Given the description of an element on the screen output the (x, y) to click on. 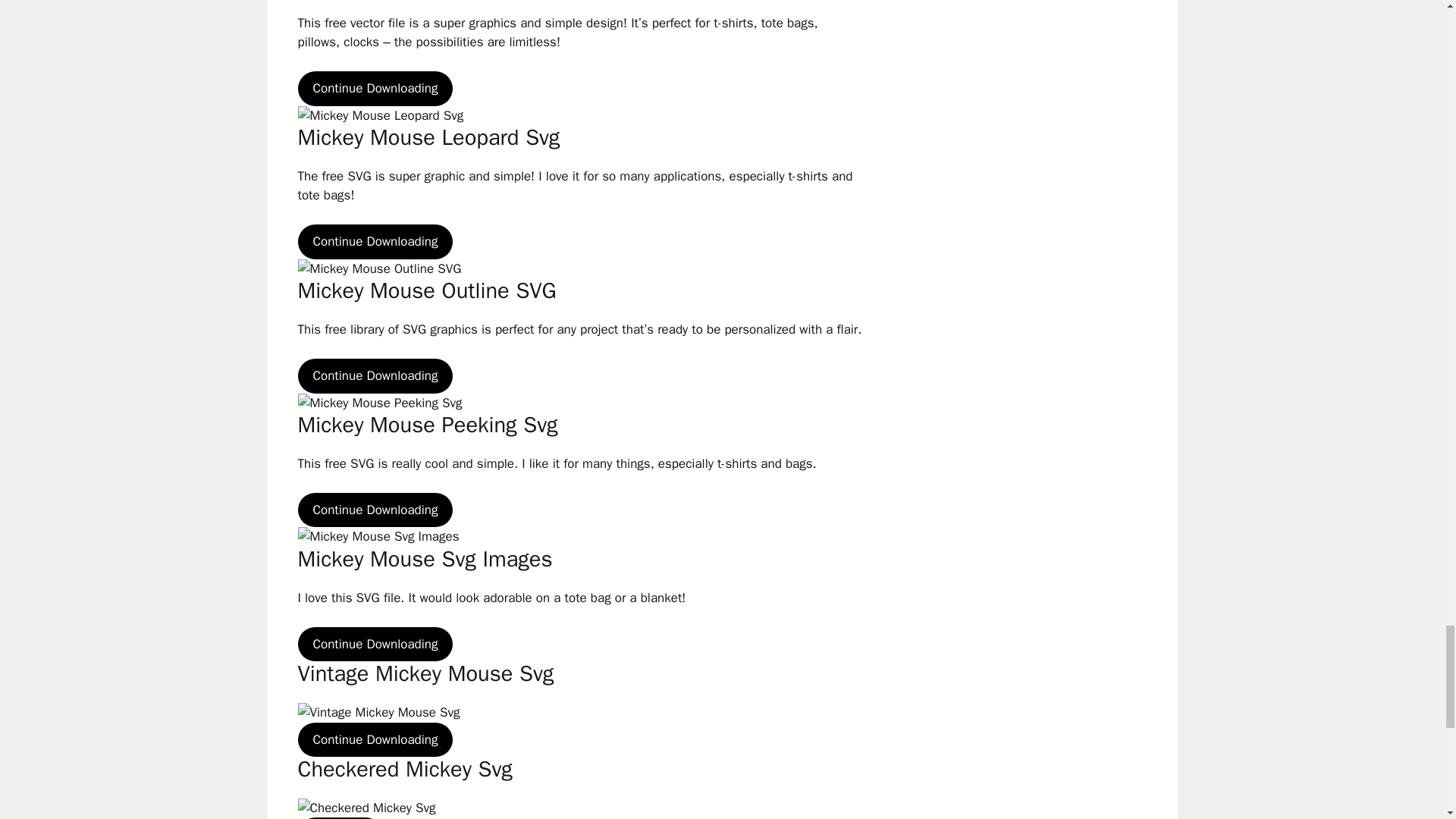
Continue Downloading (374, 644)
Continue Downloading (374, 88)
Continue Downloading (374, 510)
Continue Downloading (374, 375)
Continue Downloading (374, 241)
Download (339, 818)
Continue Downloading (374, 738)
